Given the description of an element on the screen output the (x, y) to click on. 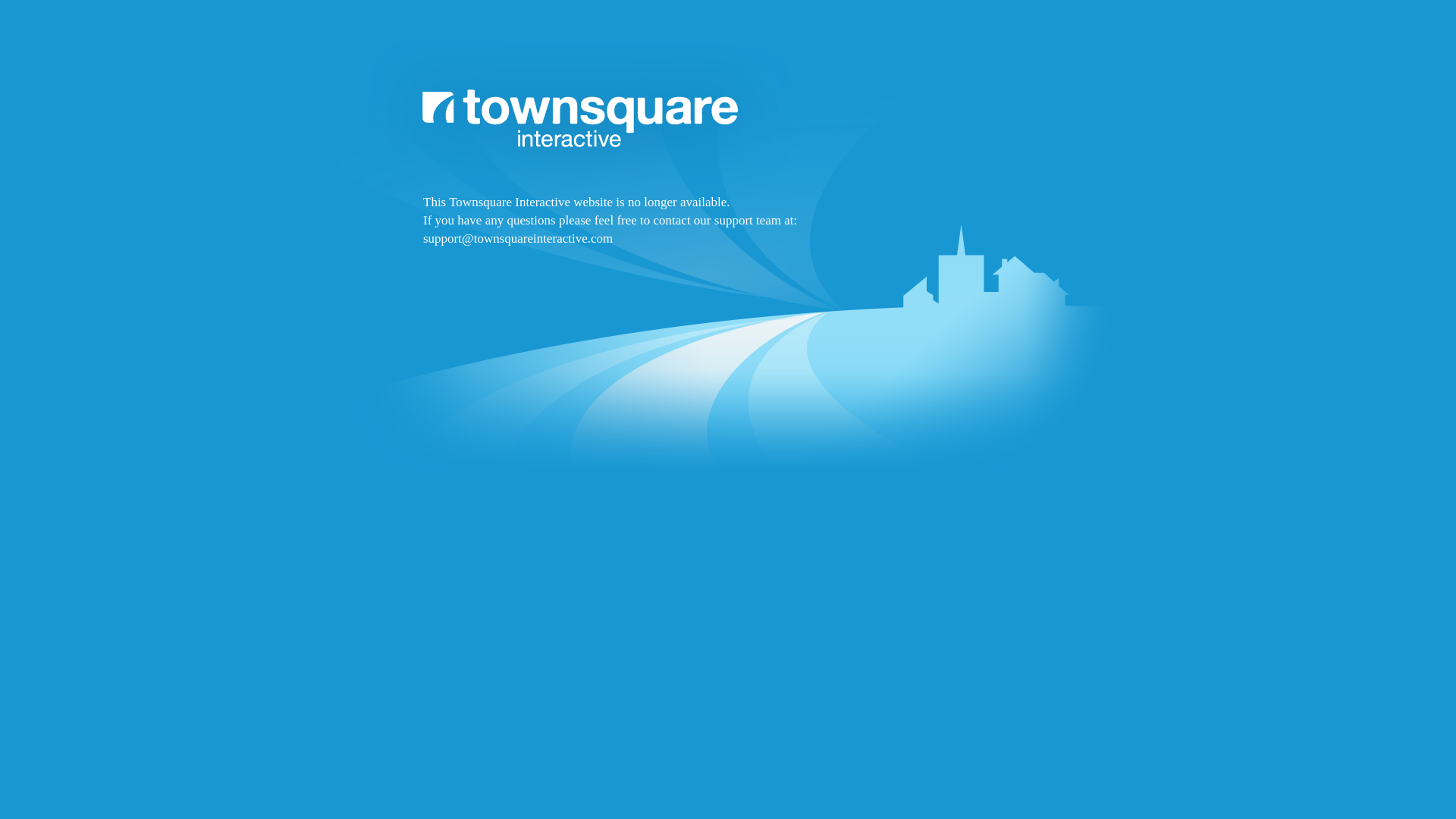
Townsquare Interactive Element type: hover (727, 297)
